Given the description of an element on the screen output the (x, y) to click on. 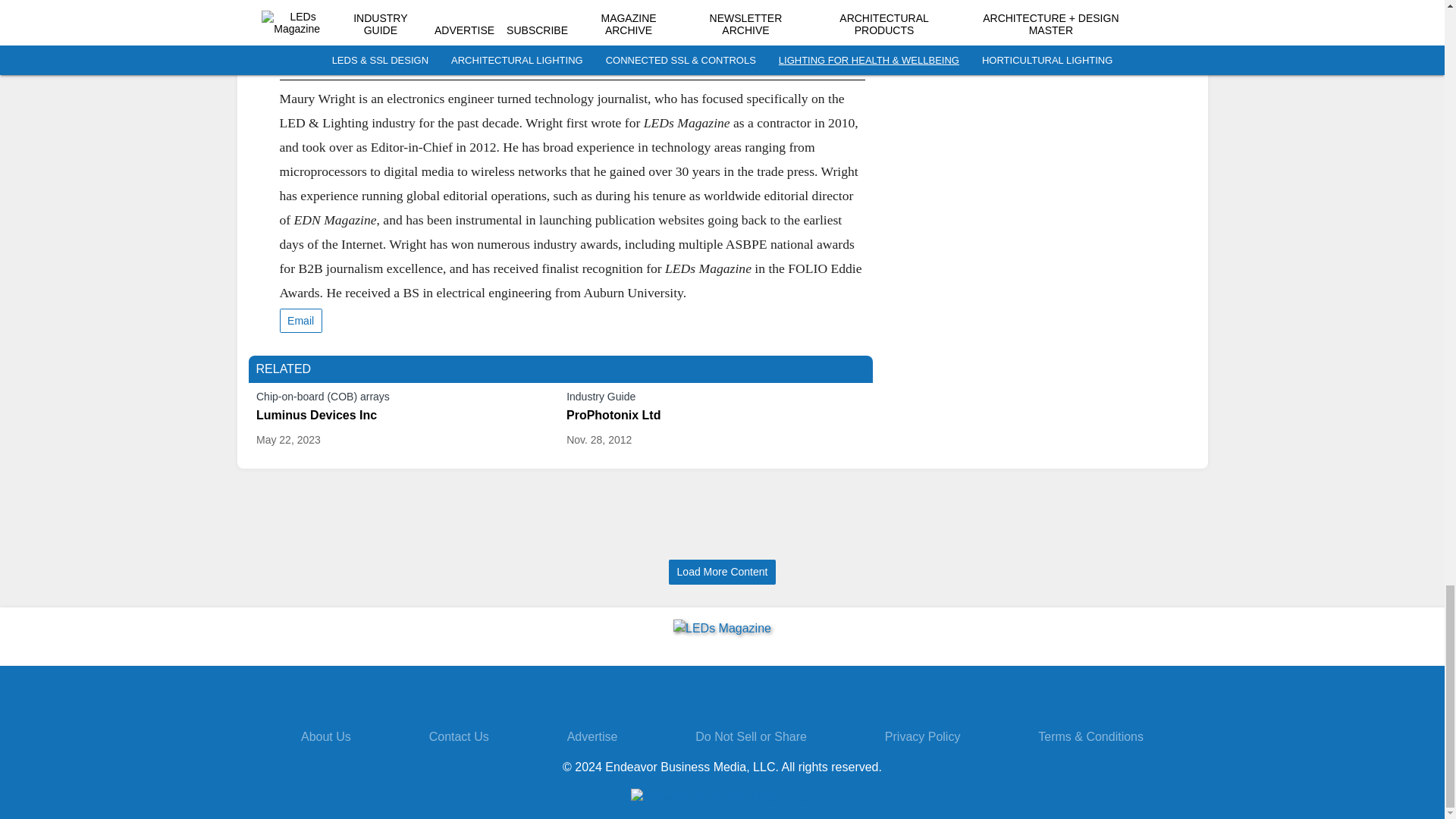
Industry Guide (715, 399)
Email (300, 320)
Luminus Devices Inc (405, 415)
ProPhotonix Ltd (715, 415)
